Given the description of an element on the screen output the (x, y) to click on. 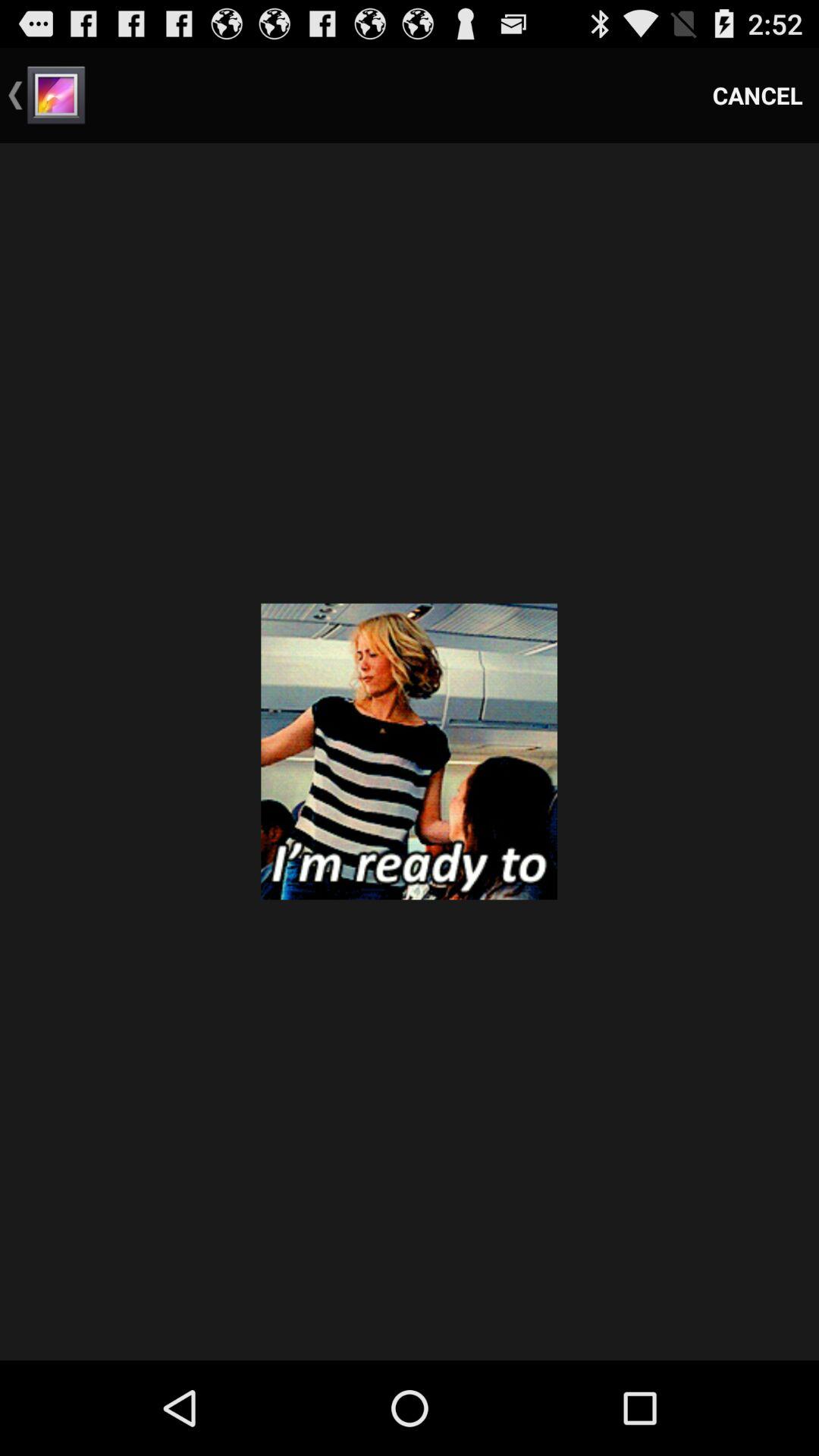
choose cancel at the top right corner (757, 95)
